Given the description of an element on the screen output the (x, y) to click on. 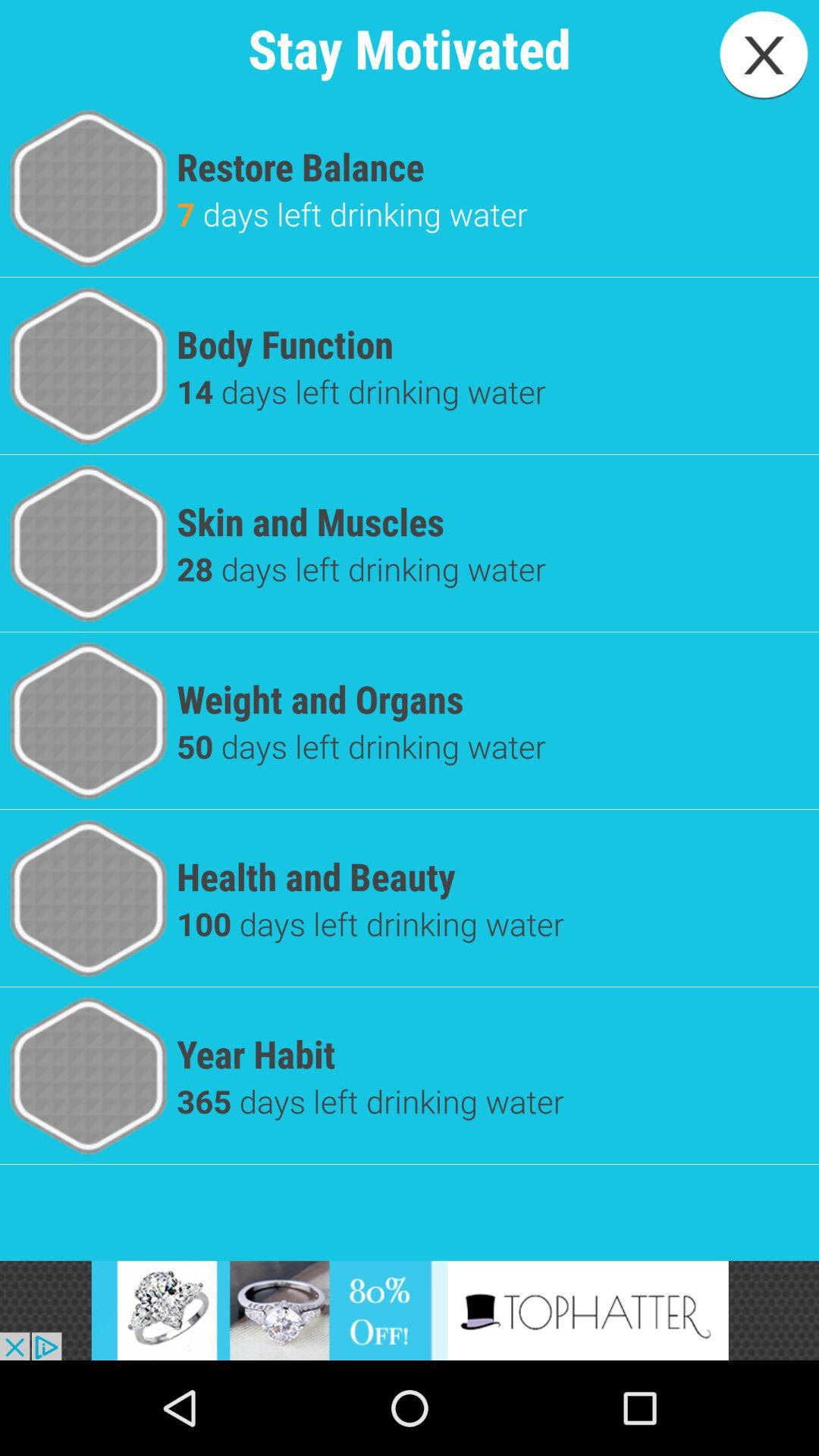
go to advertisement website (409, 1310)
